Given the description of an element on the screen output the (x, y) to click on. 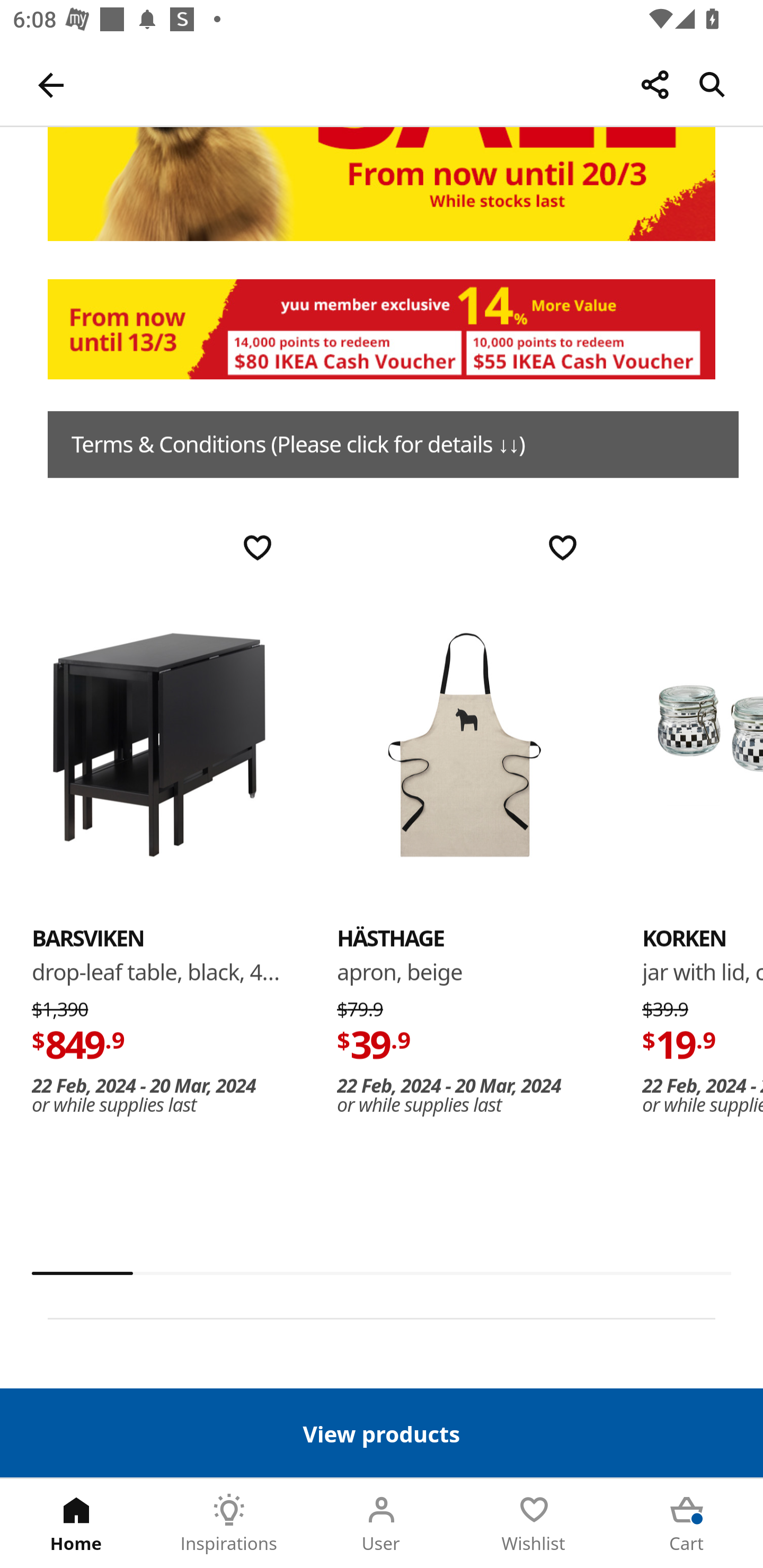
Terms & Conditions (Please click for details ↓↓) (393, 444)
BARSVIKEN (159, 743)
HÄSTHAGE (464, 743)
KORKEN (702, 743)
BARSVIKEN (88, 937)
HÄSTHAGE (390, 937)
KORKEN (684, 937)
View products (381, 1432)
Home
Tab 1 of 5 (76, 1522)
Inspirations
Tab 2 of 5 (228, 1522)
User
Tab 3 of 5 (381, 1522)
Wishlist
Tab 4 of 5 (533, 1522)
Cart
Tab 5 of 5 (686, 1522)
